Given the description of an element on the screen output the (x, y) to click on. 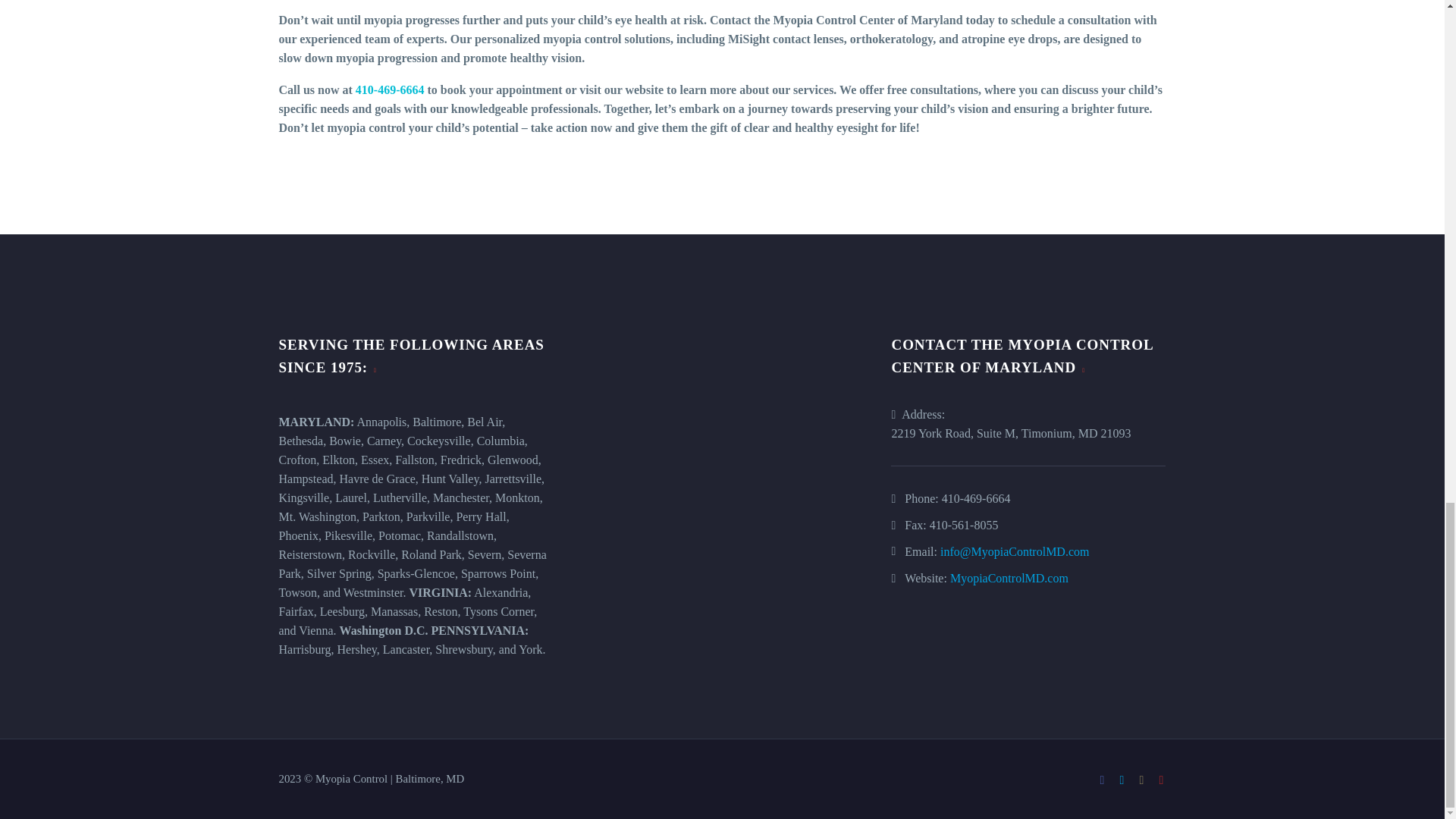
YouTube (1161, 779)
Facebook (1102, 779)
410-469-6664 (390, 89)
Instagram (1141, 779)
MyopiaControlMD.com (1009, 577)
410-469-6664 (976, 498)
Twitter (1122, 779)
